Given the description of an element on the screen output the (x, y) to click on. 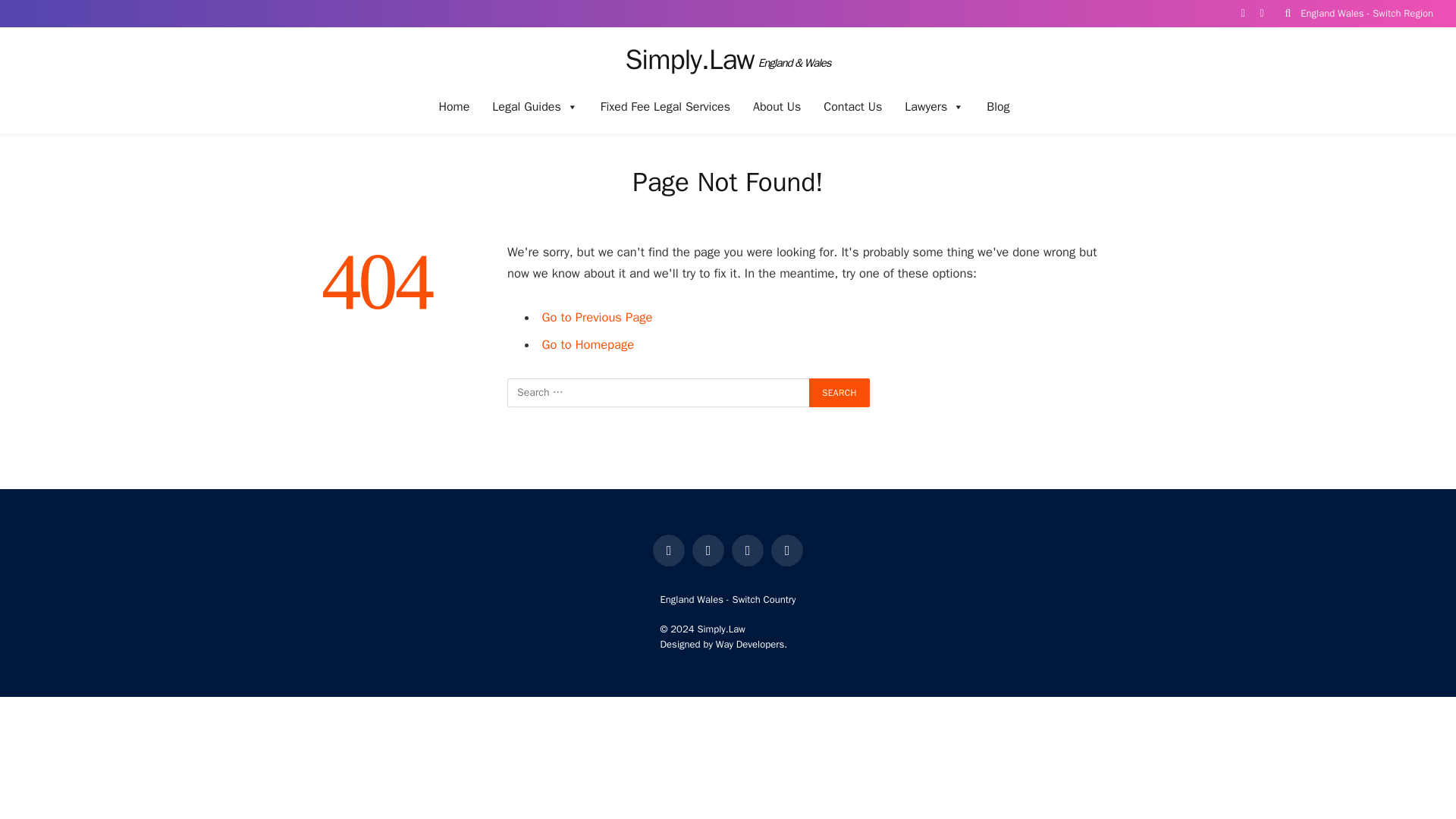
Search (839, 392)
Simply Law England Wales (726, 59)
Search (839, 392)
